Given the description of an element on the screen output the (x, y) to click on. 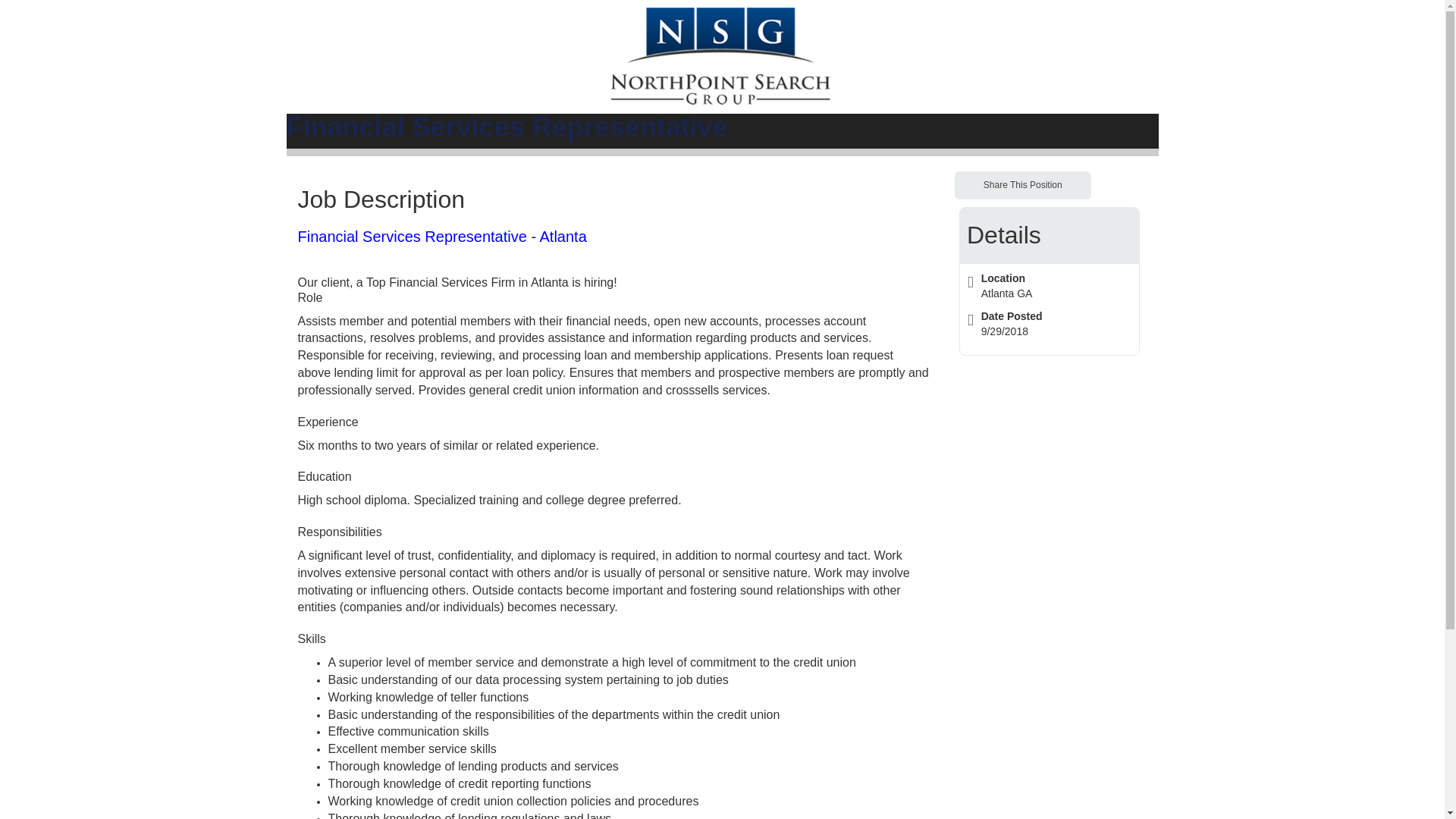
Share This Position (1022, 185)
